Given the description of an element on the screen output the (x, y) to click on. 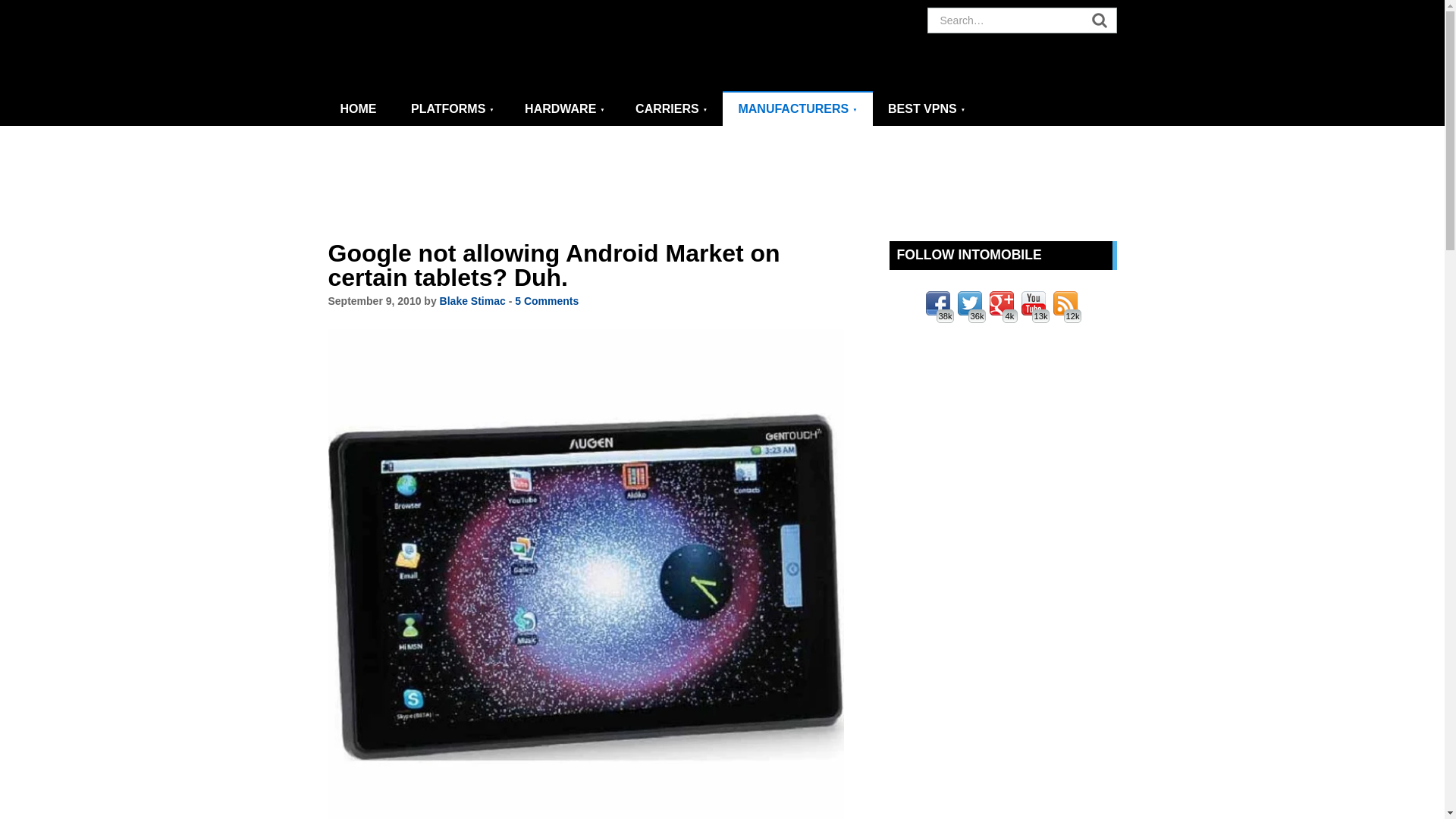
CARRIERS (671, 109)
Blake Stimac (472, 300)
HARDWARE (564, 109)
MANUFACTURERS (797, 108)
HOME (359, 109)
PLATFORMS (452, 109)
Advertisement (722, 183)
5 Comments (546, 300)
IntoMobile (463, 45)
The Latest Cell Phone News and Reviews (359, 109)
BEST VPNS (925, 109)
Advertisement (1002, 581)
